Given the description of an element on the screen output the (x, y) to click on. 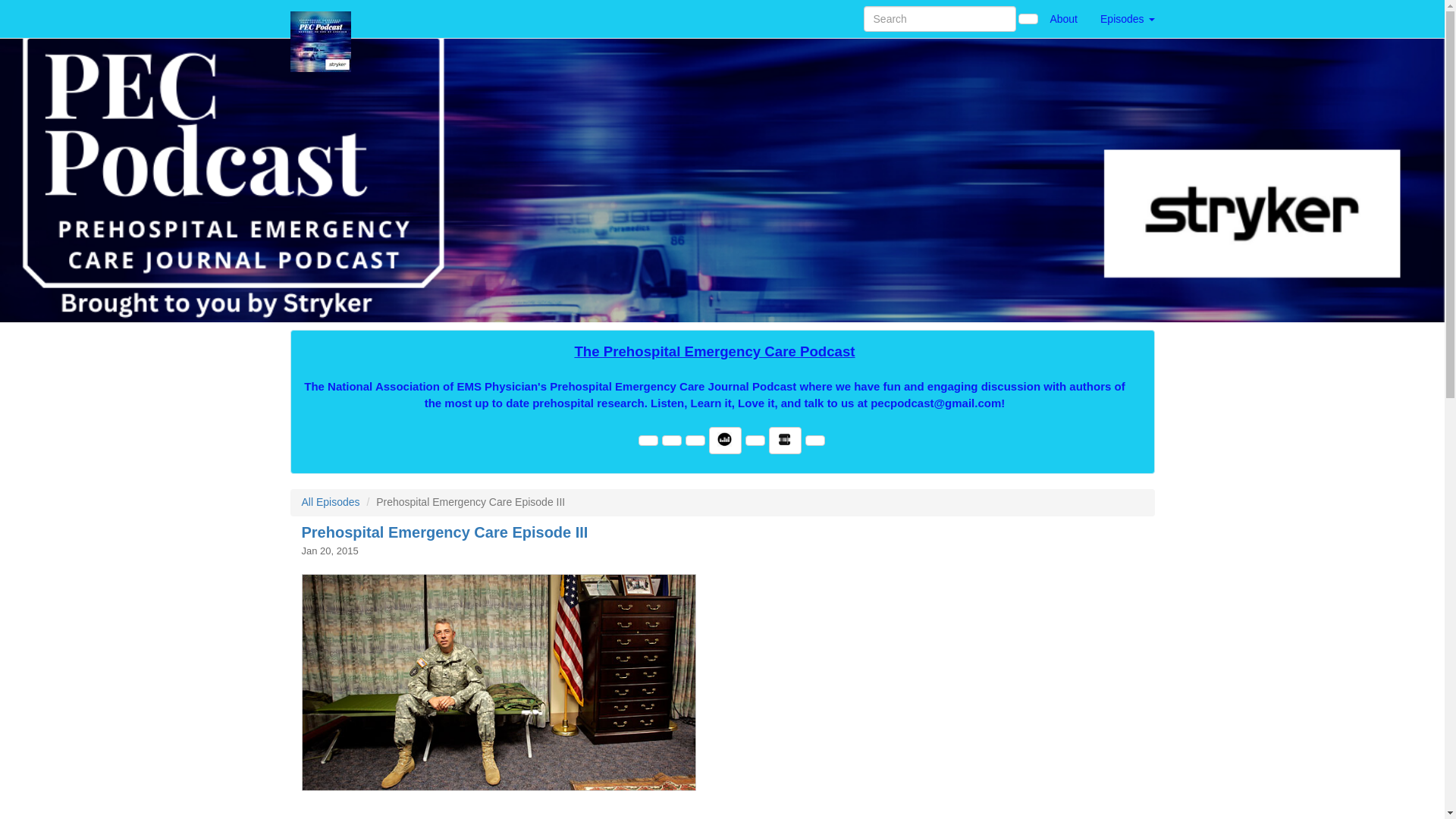
Episodes (1127, 18)
About (1063, 18)
Home Page (320, 18)
